Given the description of an element on the screen output the (x, y) to click on. 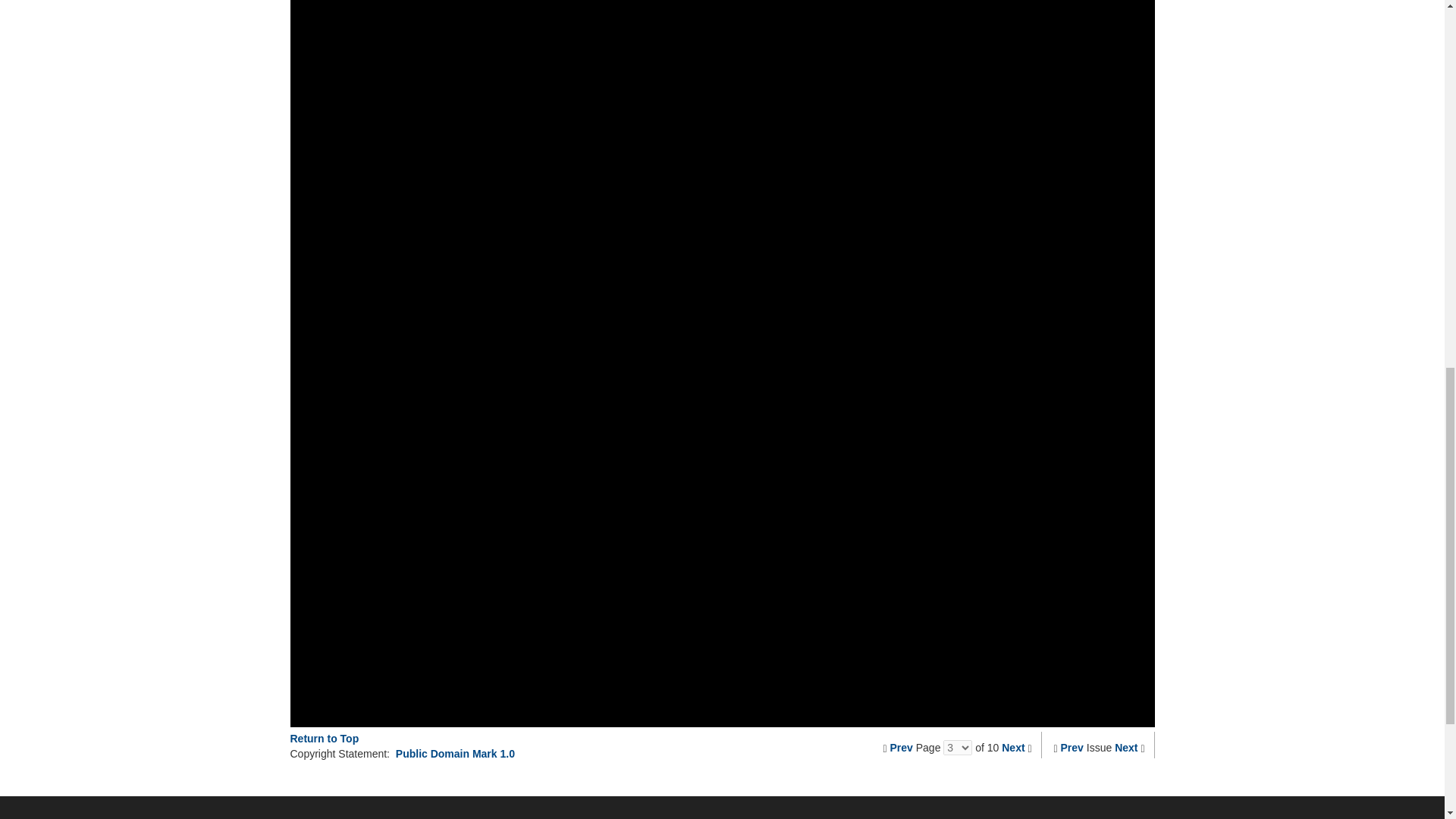
Prev (1072, 747)
Next (1013, 747)
Prev (900, 747)
Return to Top (323, 738)
Next (1126, 747)
Public Domain Mark 1.0 (455, 753)
